Given the description of an element on the screen output the (x, y) to click on. 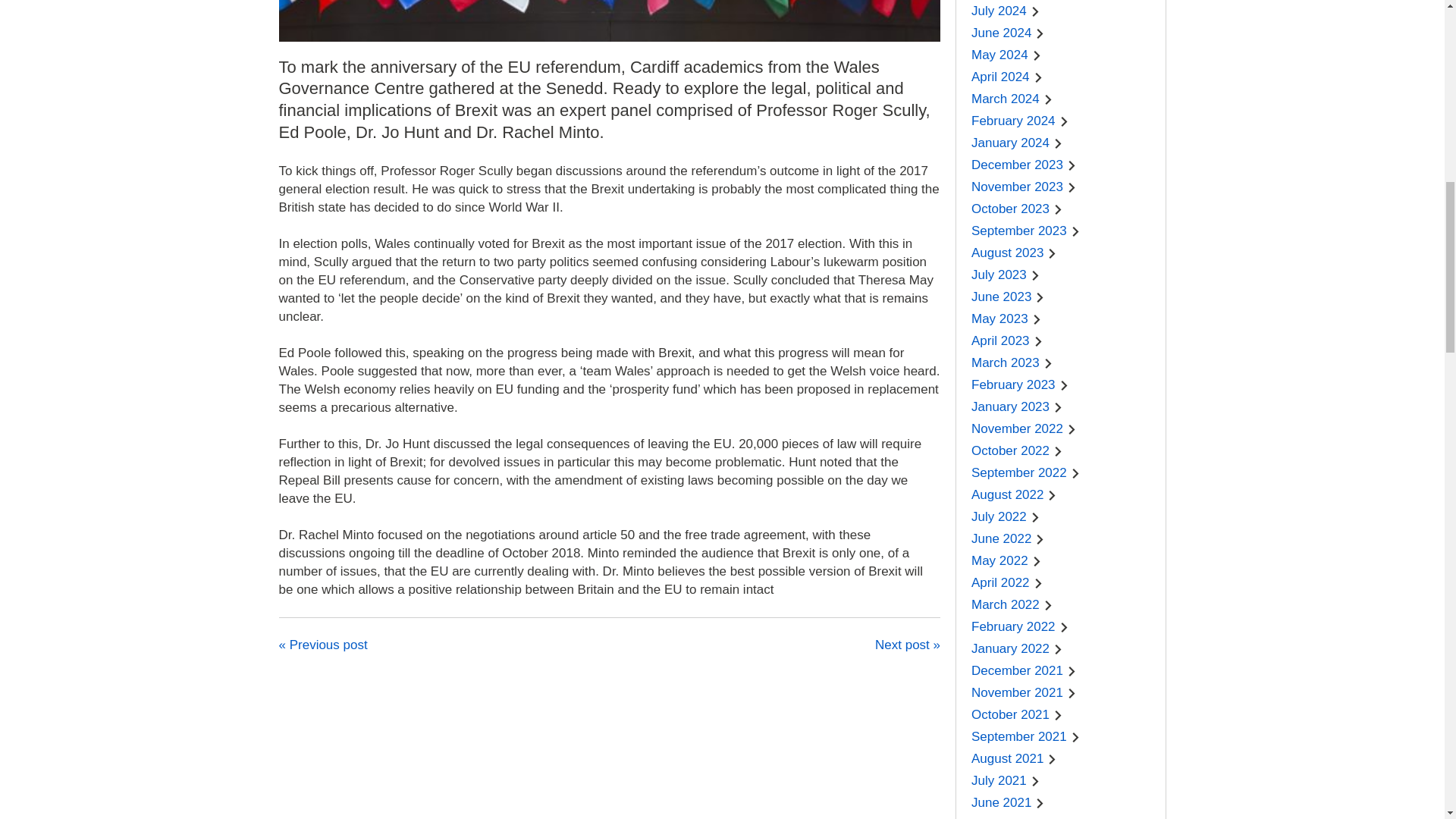
Chevron right (1037, 55)
Chevron right (1035, 11)
Chevron right (1038, 77)
Chevron right (1040, 33)
